Given the description of an element on the screen output the (x, y) to click on. 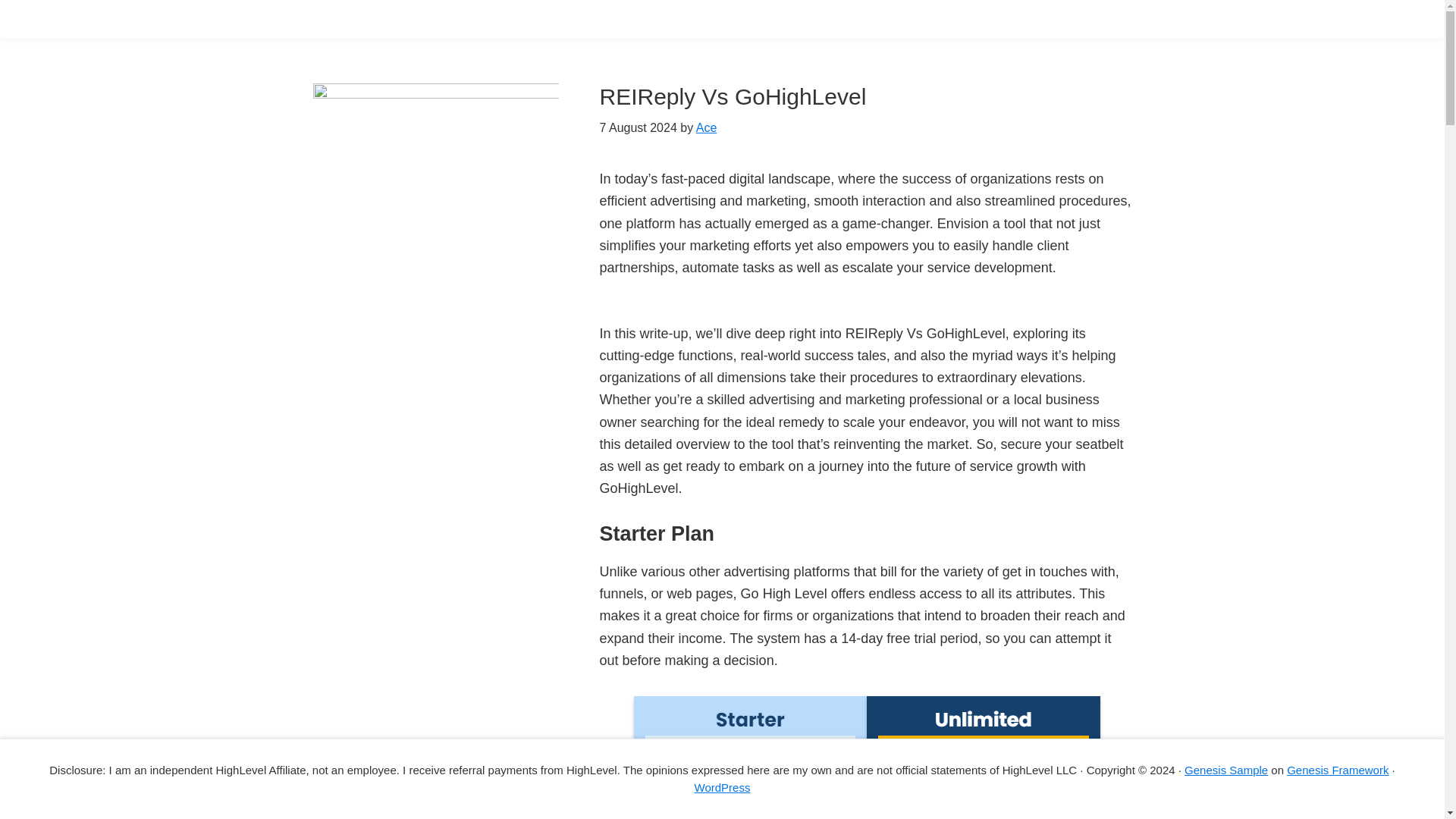
Ace (706, 127)
Genesis Sample (1226, 769)
WordPress (722, 787)
Genesis Framework (1338, 769)
